Given the description of an element on the screen output the (x, y) to click on. 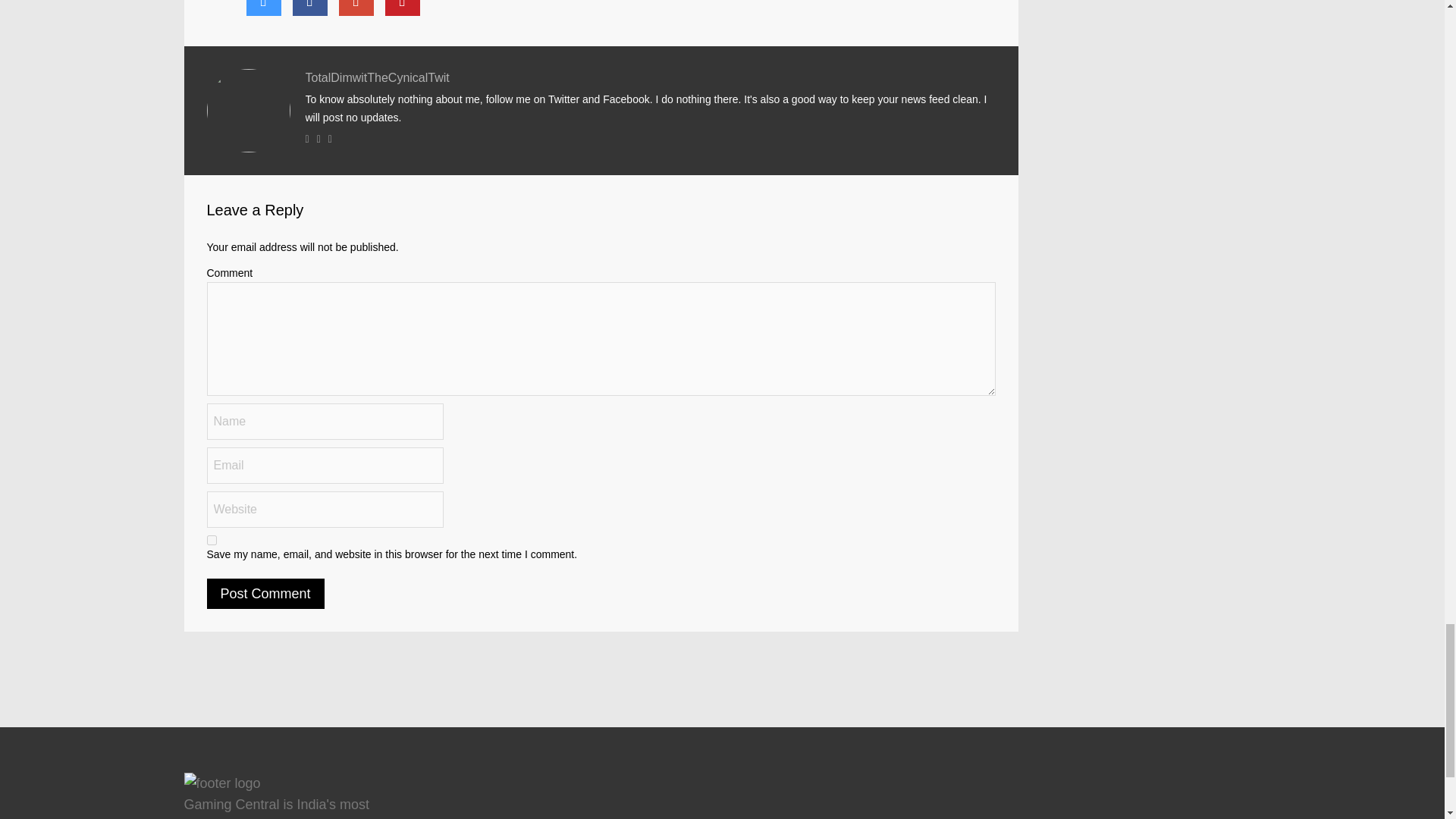
Post Comment (264, 593)
Share on Facebook (309, 7)
Tweet This Post (263, 7)
yes (210, 540)
